Given the description of an element on the screen output the (x, y) to click on. 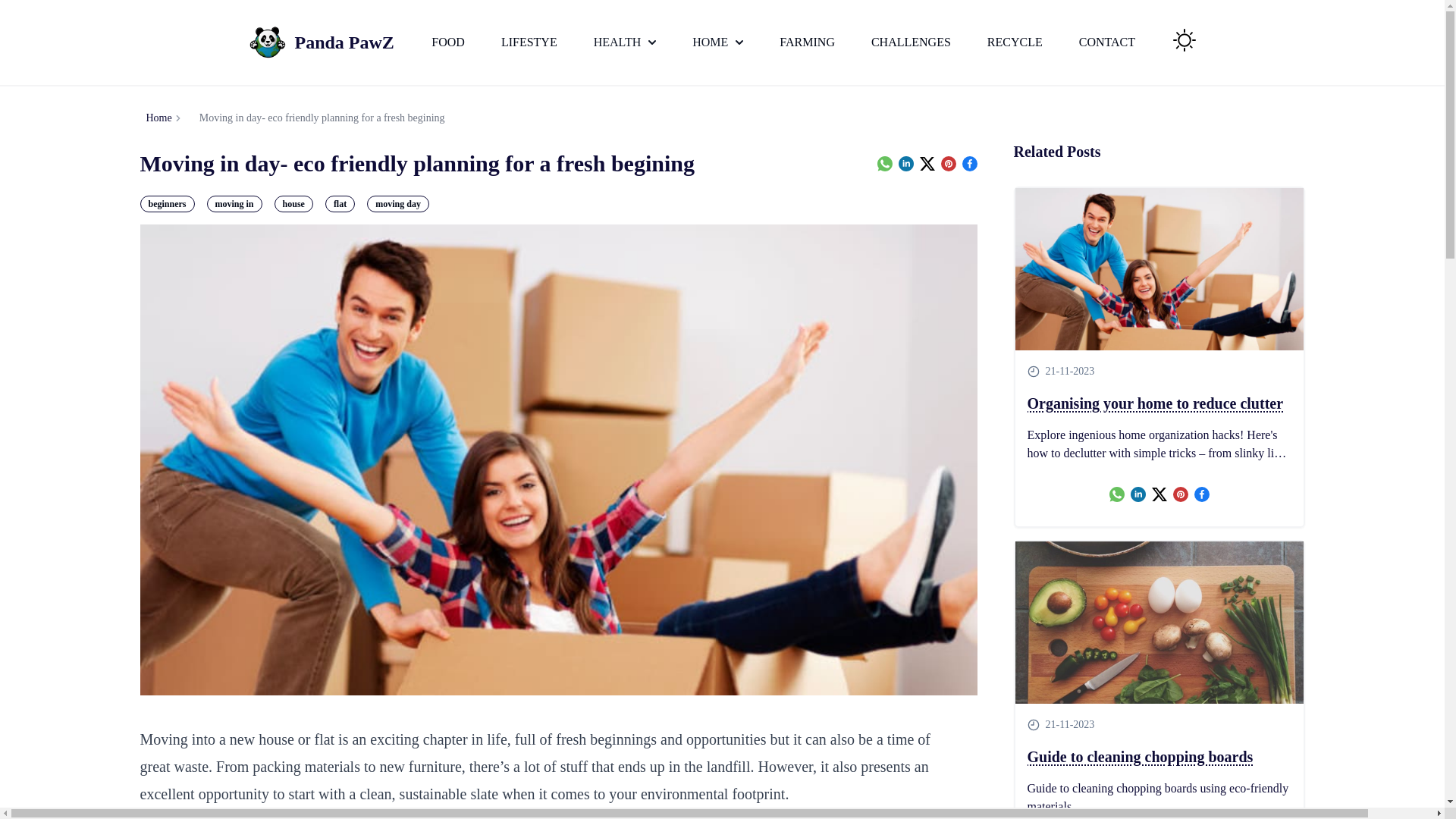
beginners (167, 203)
FOOD (447, 42)
RECYCLE (1014, 42)
moving day (397, 203)
FARMING (806, 42)
share on LinkedIn (905, 163)
CHALLENGES (910, 42)
CONTACT (1106, 42)
HOME (717, 42)
Home (158, 118)
